Given the description of an element on the screen output the (x, y) to click on. 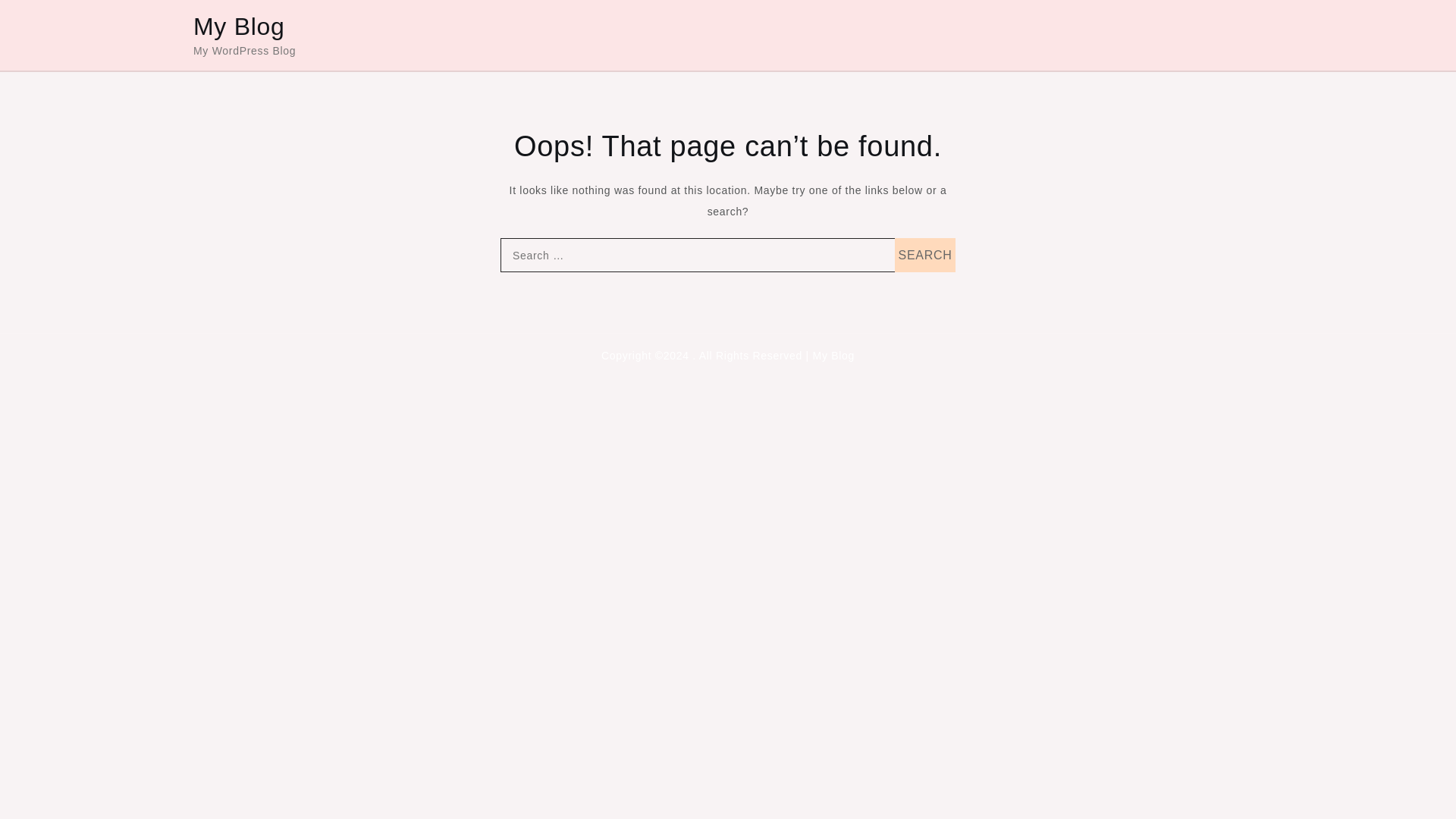
Search (925, 254)
My Blog (239, 26)
Search (925, 254)
Search (925, 254)
